Given the description of an element on the screen output the (x, y) to click on. 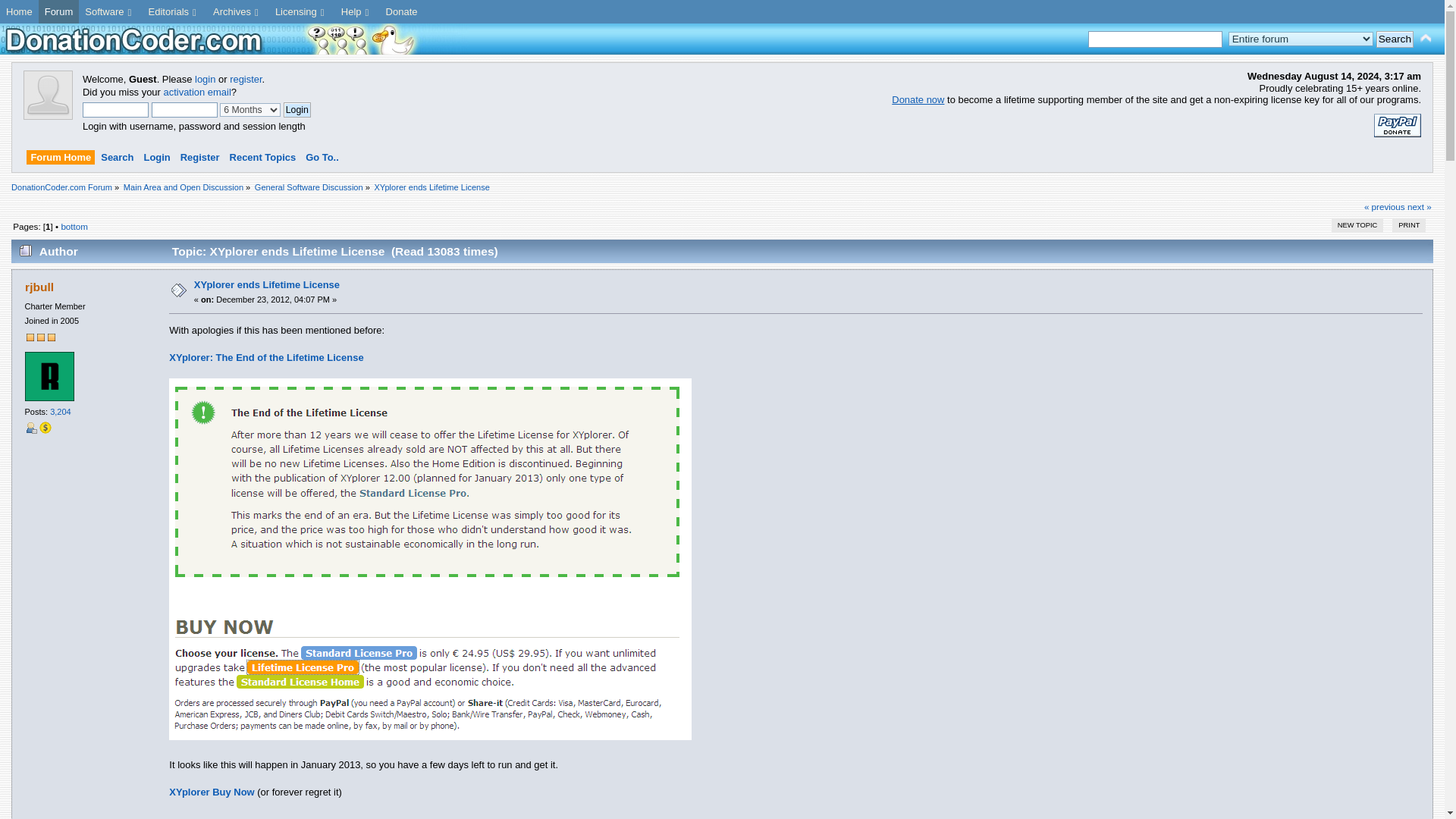
Search (1394, 39)
Login (297, 109)
View Profile (30, 427)
Editorials (174, 11)
Archives (237, 11)
View the profile of rjbull (38, 286)
Software (109, 11)
click to register on the forum (47, 116)
Forum (59, 11)
Donate to Member (44, 427)
